Given the description of an element on the screen output the (x, y) to click on. 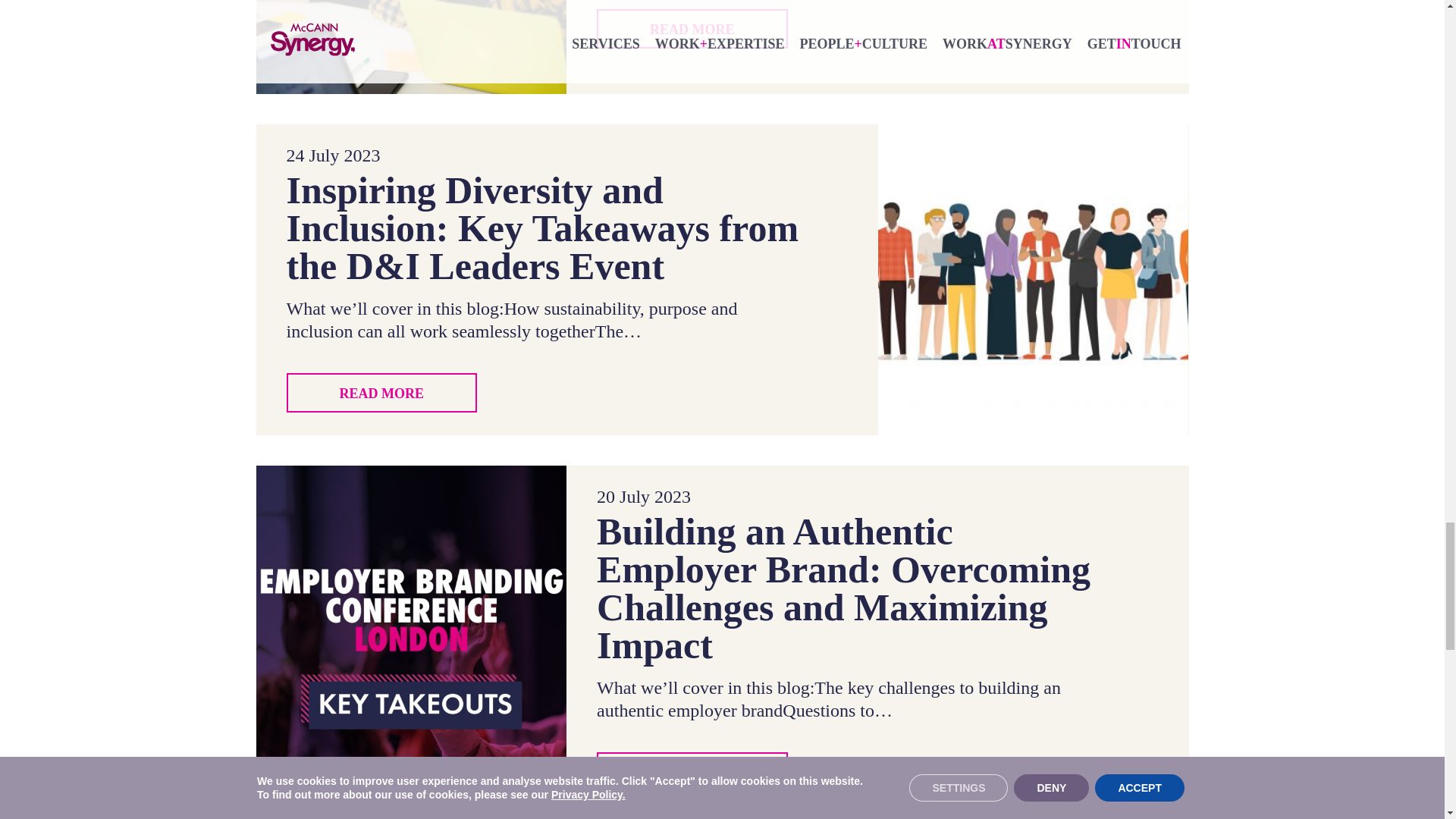
READ MORE (691, 771)
READ MORE (381, 392)
READ MORE (691, 28)
